Given the description of an element on the screen output the (x, y) to click on. 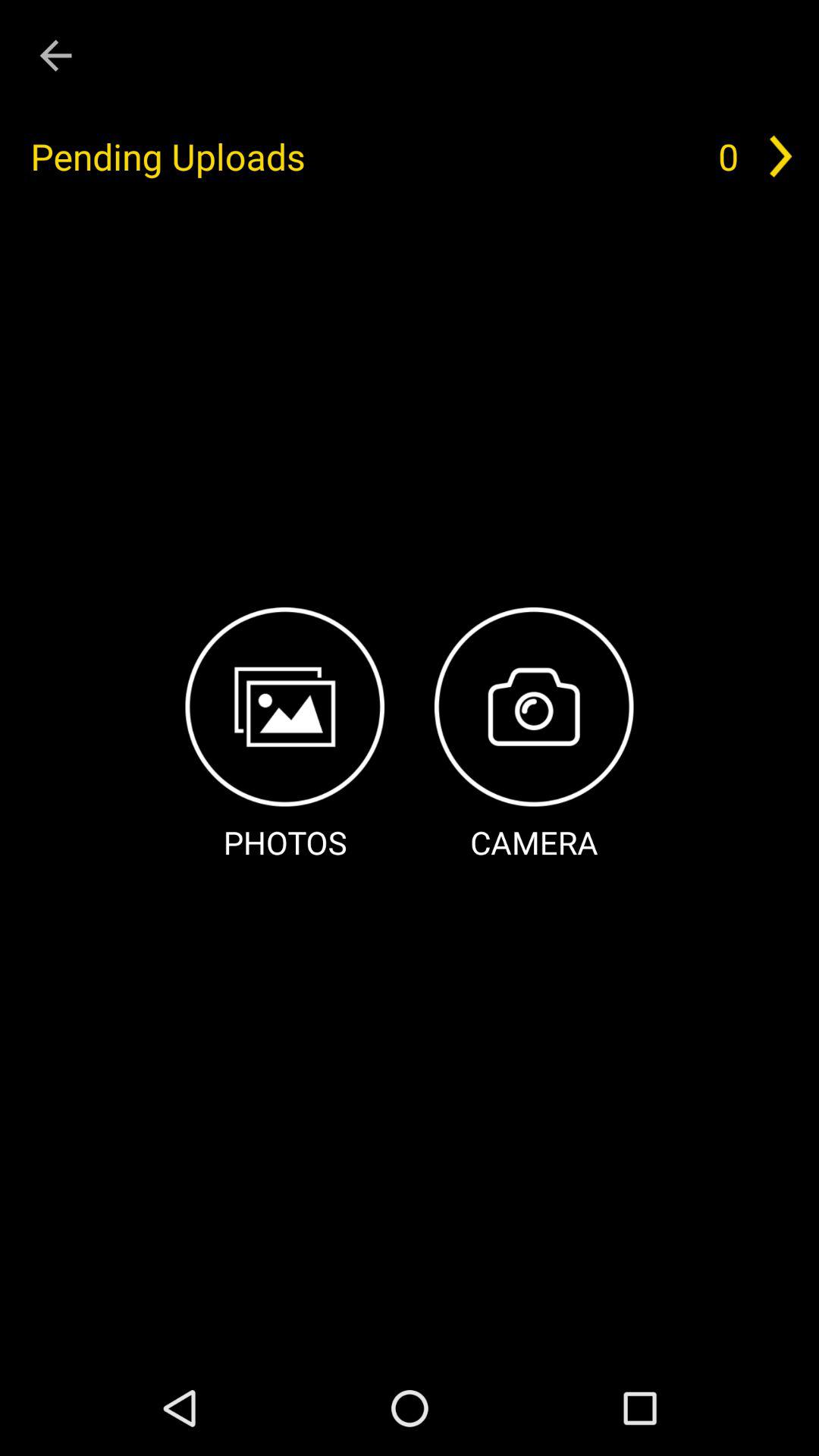
turn off the icon next to photos icon (533, 735)
